Given the description of an element on the screen output the (x, y) to click on. 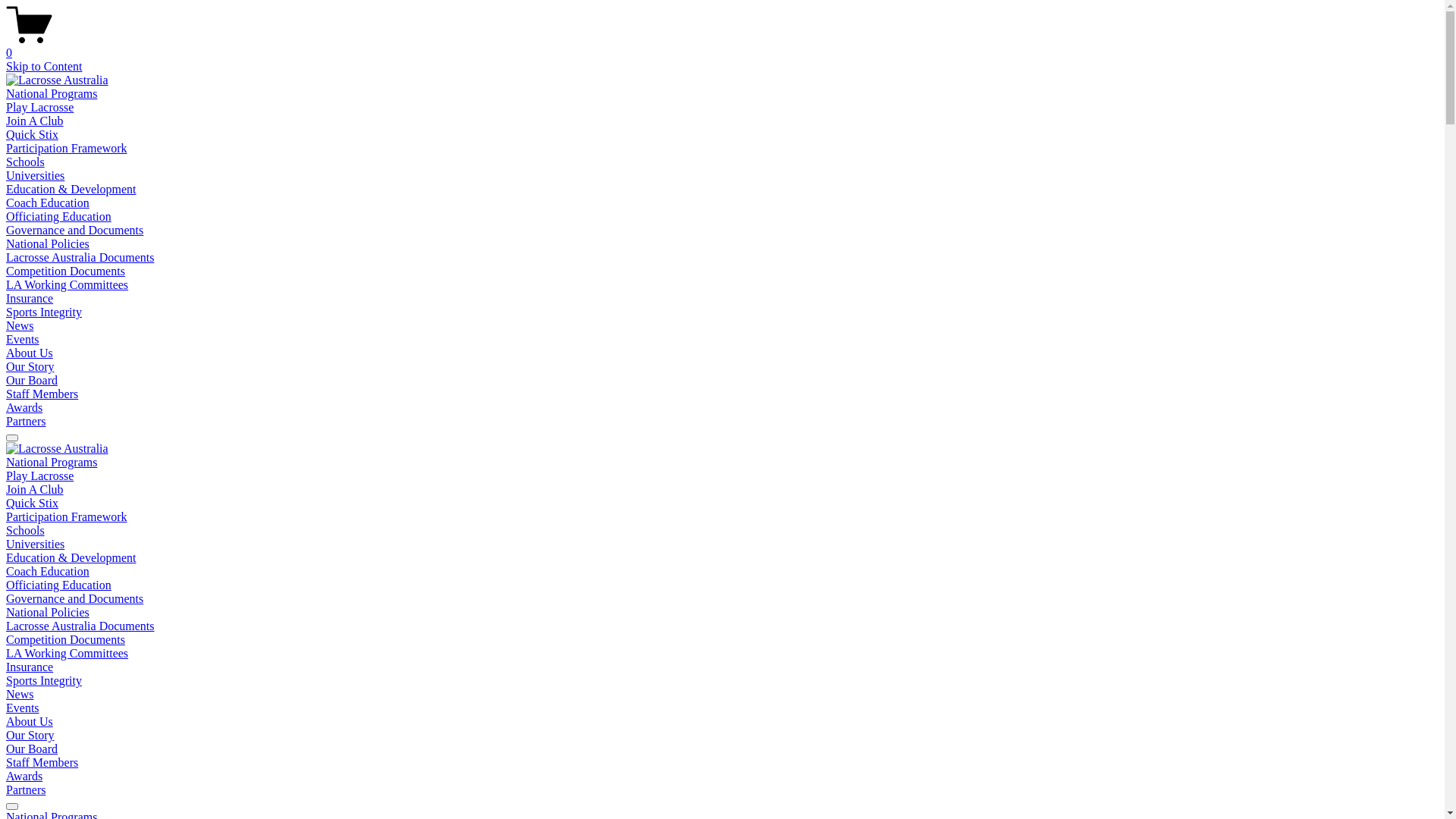
Participation Framework Element type: text (66, 147)
LA Working Committees Element type: text (67, 284)
National Policies Element type: text (47, 243)
Awards Element type: text (24, 775)
Participation Framework Element type: text (66, 516)
Play Lacrosse Element type: text (39, 475)
Coach Education Element type: text (47, 570)
Schools Element type: text (25, 530)
Join A Club Element type: text (34, 120)
Quick Stix Element type: text (32, 502)
National Programs Element type: text (51, 93)
Officiating Education Element type: text (58, 216)
National Policies Element type: text (47, 611)
0 Element type: text (722, 45)
LA Working Committees Element type: text (67, 652)
Staff Members Element type: text (42, 762)
Join A Club Element type: text (34, 489)
Our Board Element type: text (31, 748)
Awards Element type: text (24, 407)
Governance and Documents Element type: text (74, 229)
Insurance Element type: text (29, 666)
Our Board Element type: text (31, 379)
Our Story Element type: text (30, 734)
Coach Education Element type: text (47, 202)
About Us Element type: text (29, 352)
Competition Documents Element type: text (65, 270)
Sports Integrity Element type: text (43, 680)
Sports Integrity Element type: text (43, 311)
Events Element type: text (22, 707)
Lacrosse Australia Documents Element type: text (80, 257)
Universities Element type: text (35, 175)
Insurance Element type: text (29, 297)
Events Element type: text (22, 338)
National Programs Element type: text (51, 461)
Governance and Documents Element type: text (74, 598)
Partners Element type: text (25, 789)
Education & Development Element type: text (71, 557)
Play Lacrosse Element type: text (39, 106)
Partners Element type: text (25, 420)
Universities Element type: text (35, 543)
About Us Element type: text (29, 721)
News Element type: text (19, 693)
Competition Documents Element type: text (65, 639)
Our Story Element type: text (30, 366)
Lacrosse Australia Documents Element type: text (80, 625)
News Element type: text (19, 325)
Quick Stix Element type: text (32, 134)
Staff Members Element type: text (42, 393)
Education & Development Element type: text (71, 188)
Officiating Education Element type: text (58, 584)
Schools Element type: text (25, 161)
Skip to Content Element type: text (43, 65)
